Given the description of an element on the screen output the (x, y) to click on. 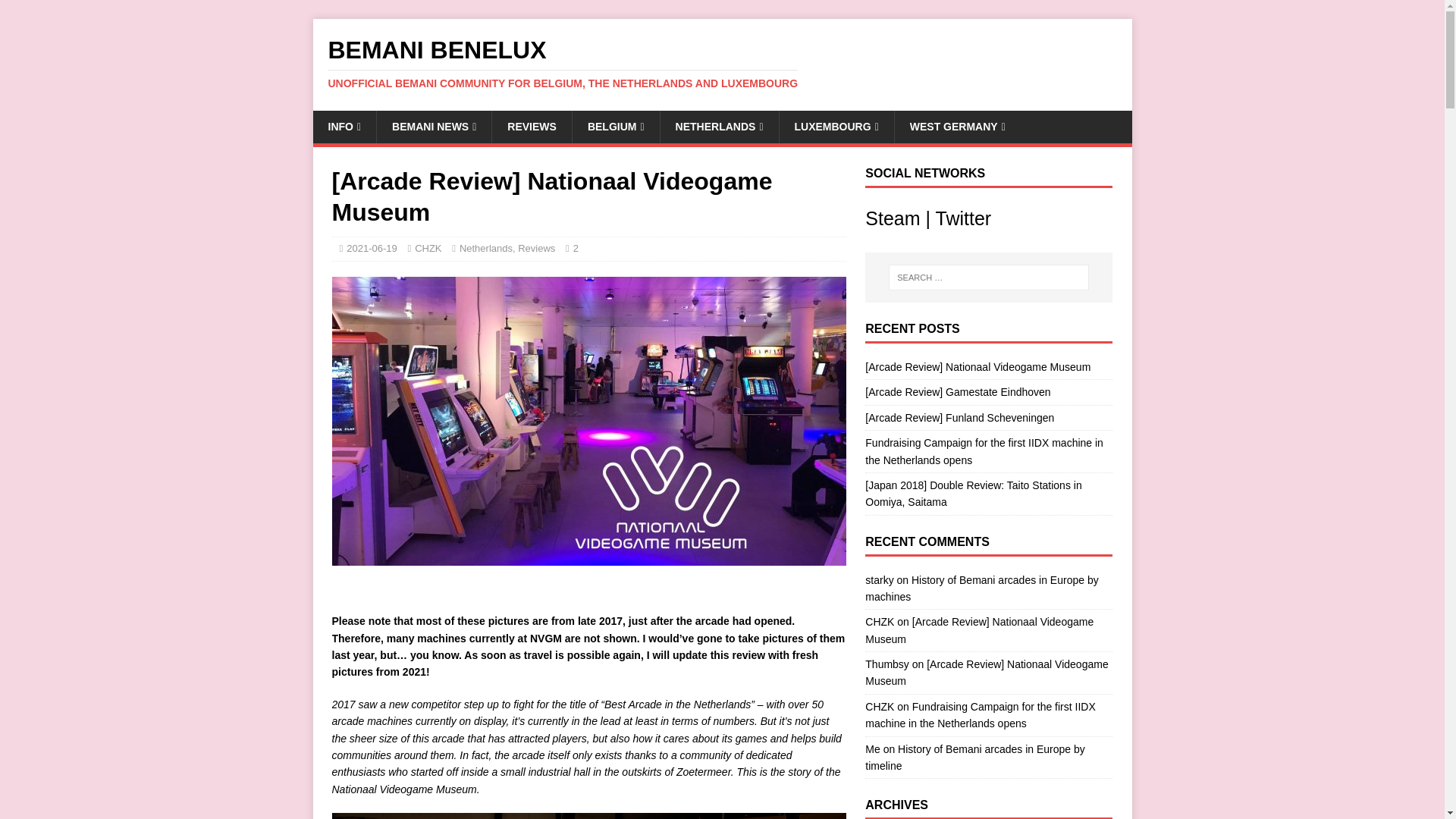
INFO (344, 126)
BEMANI NEWS (433, 126)
Bemani BeNeLux (721, 63)
